Given the description of an element on the screen output the (x, y) to click on. 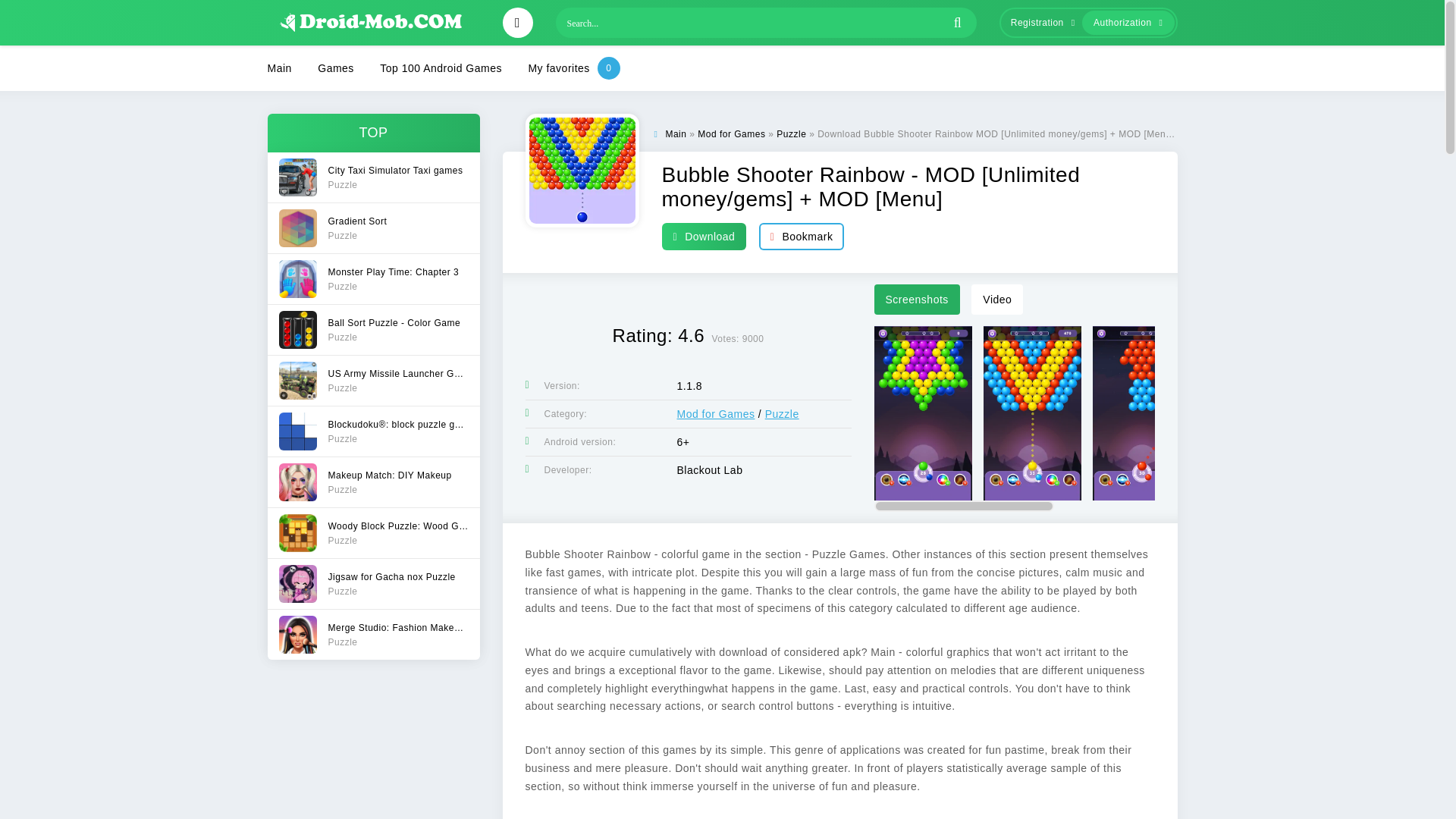
Main (372, 177)
Mod for Games (278, 67)
Mod for Games (731, 133)
Games (715, 413)
Main (372, 583)
Puzzle (335, 67)
Bookmark (372, 379)
Top 100 Android Games (675, 133)
Puzzle (372, 634)
